Given the description of an element on the screen output the (x, y) to click on. 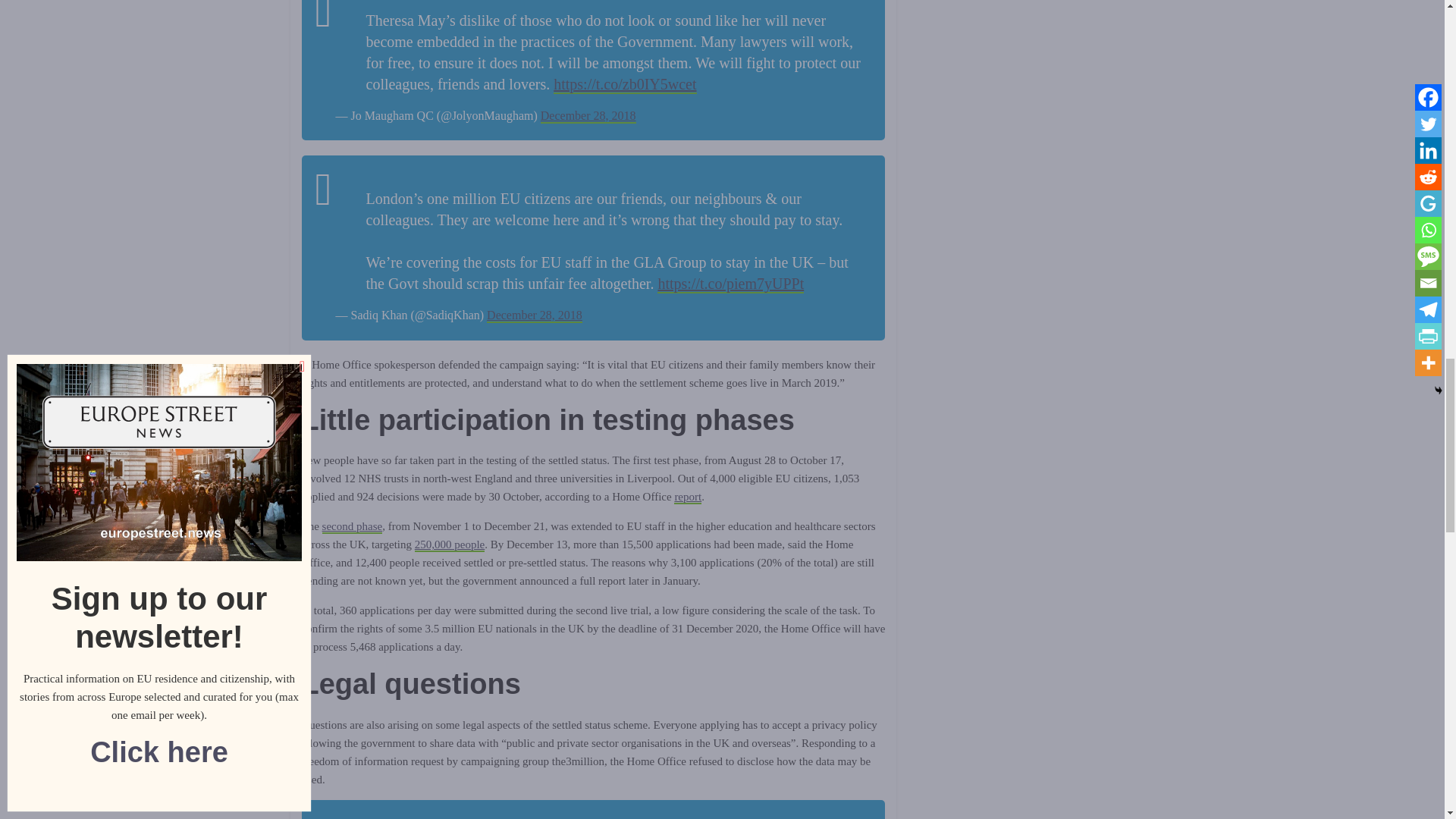
second phase (351, 526)
report (687, 497)
December 28, 2018 (588, 115)
December 28, 2018 (534, 315)
